Given the description of an element on the screen output the (x, y) to click on. 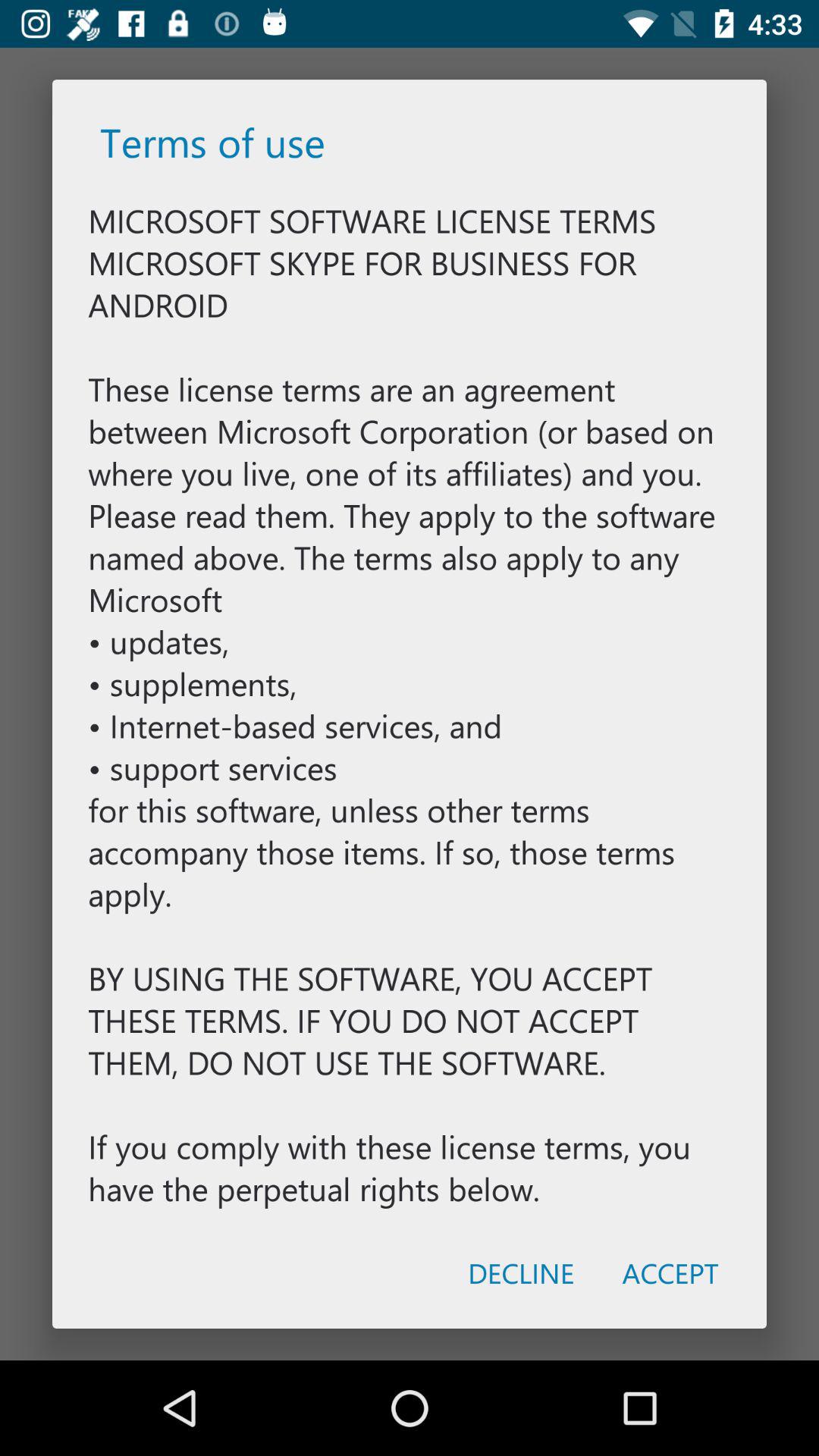
select item at the bottom (521, 1272)
